Given the description of an element on the screen output the (x, y) to click on. 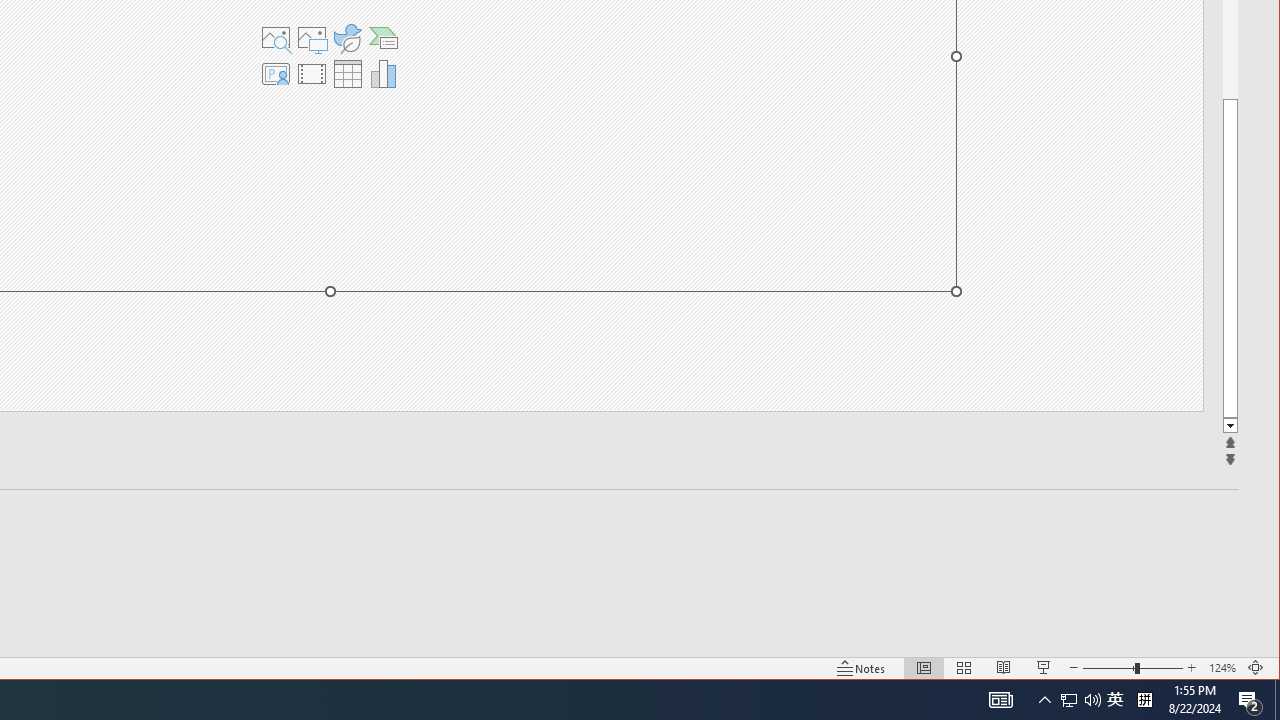
Insert Cameo (275, 74)
Insert Video (311, 74)
Insert Chart (383, 74)
Insert an Icon (347, 38)
Zoom 124% (1222, 668)
Action Center, 2 new notifications (1250, 699)
